Given the description of an element on the screen output the (x, y) to click on. 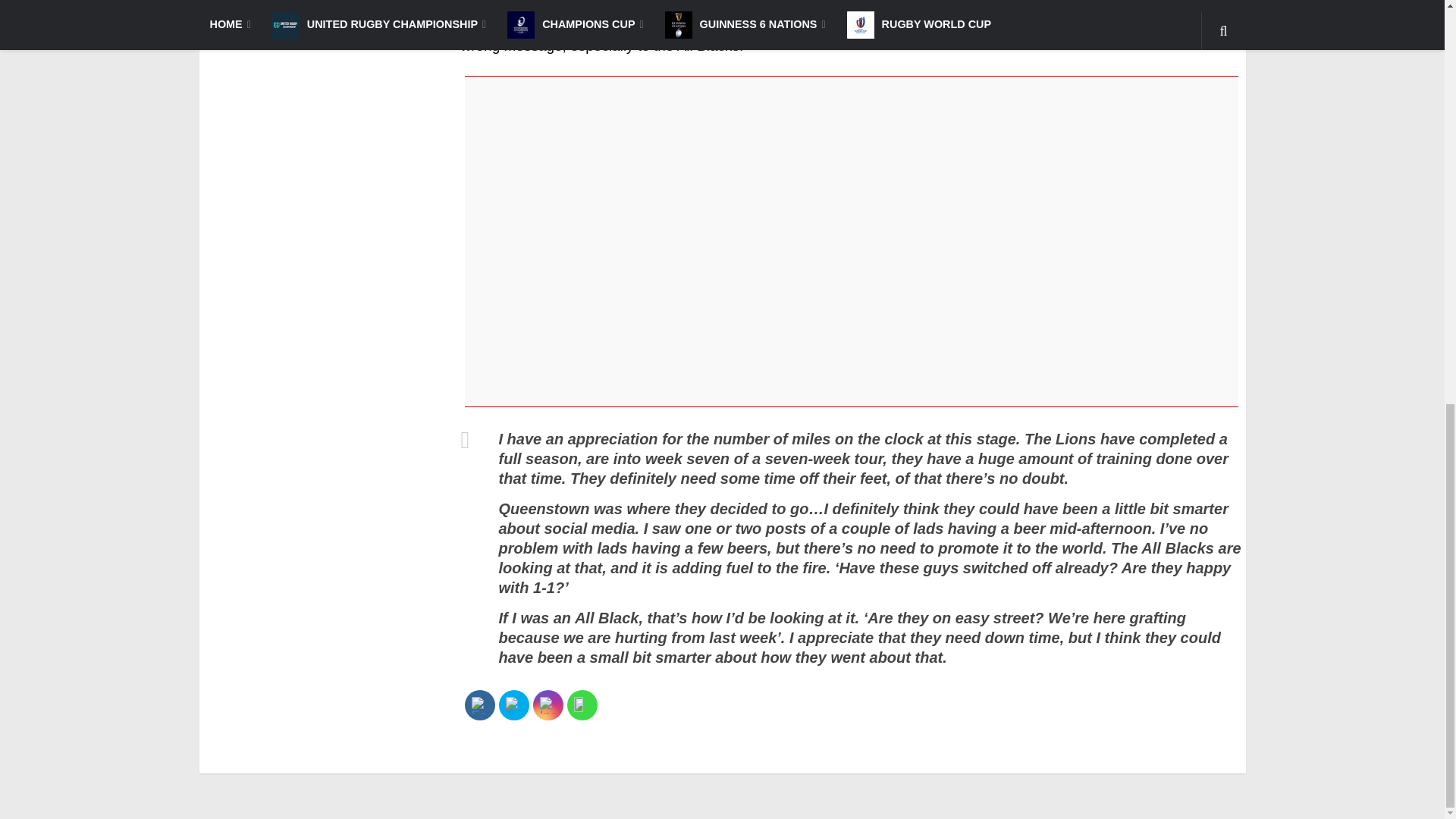
Facebook (479, 704)
Twitter (513, 704)
Off the Ball (579, 24)
Instagram (548, 704)
